Given the description of an element on the screen output the (x, y) to click on. 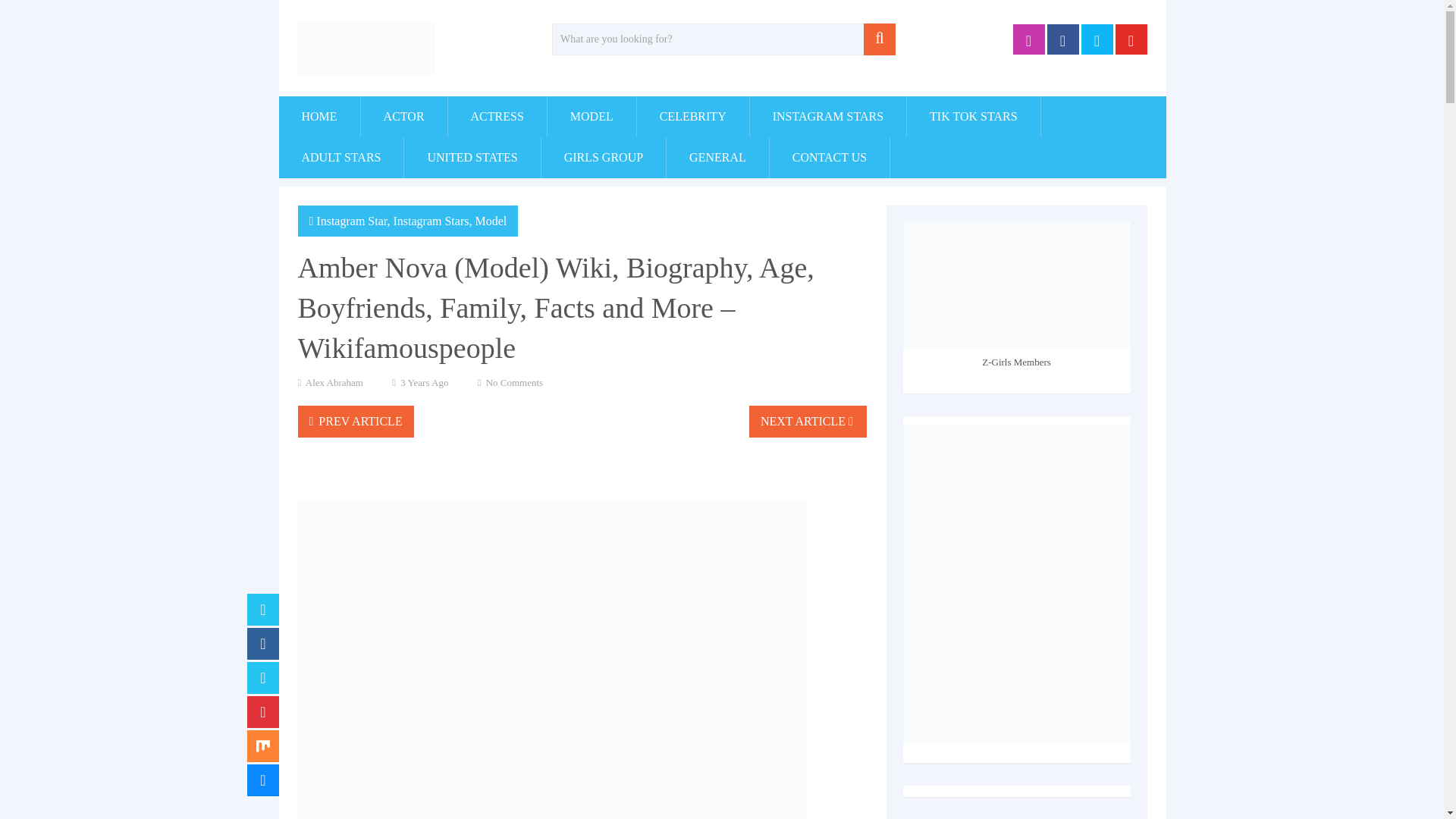
PREV ARTICLE (355, 421)
CONTACT US (829, 157)
TIK TOK STARS (973, 116)
No Comments (514, 382)
ACTRESS (497, 116)
MODEL (591, 116)
Posts by Alex Abraham (333, 382)
View all posts in Instagram Stars (430, 220)
CELEBRITY (693, 116)
GENERAL (717, 157)
